Given the description of an element on the screen output the (x, y) to click on. 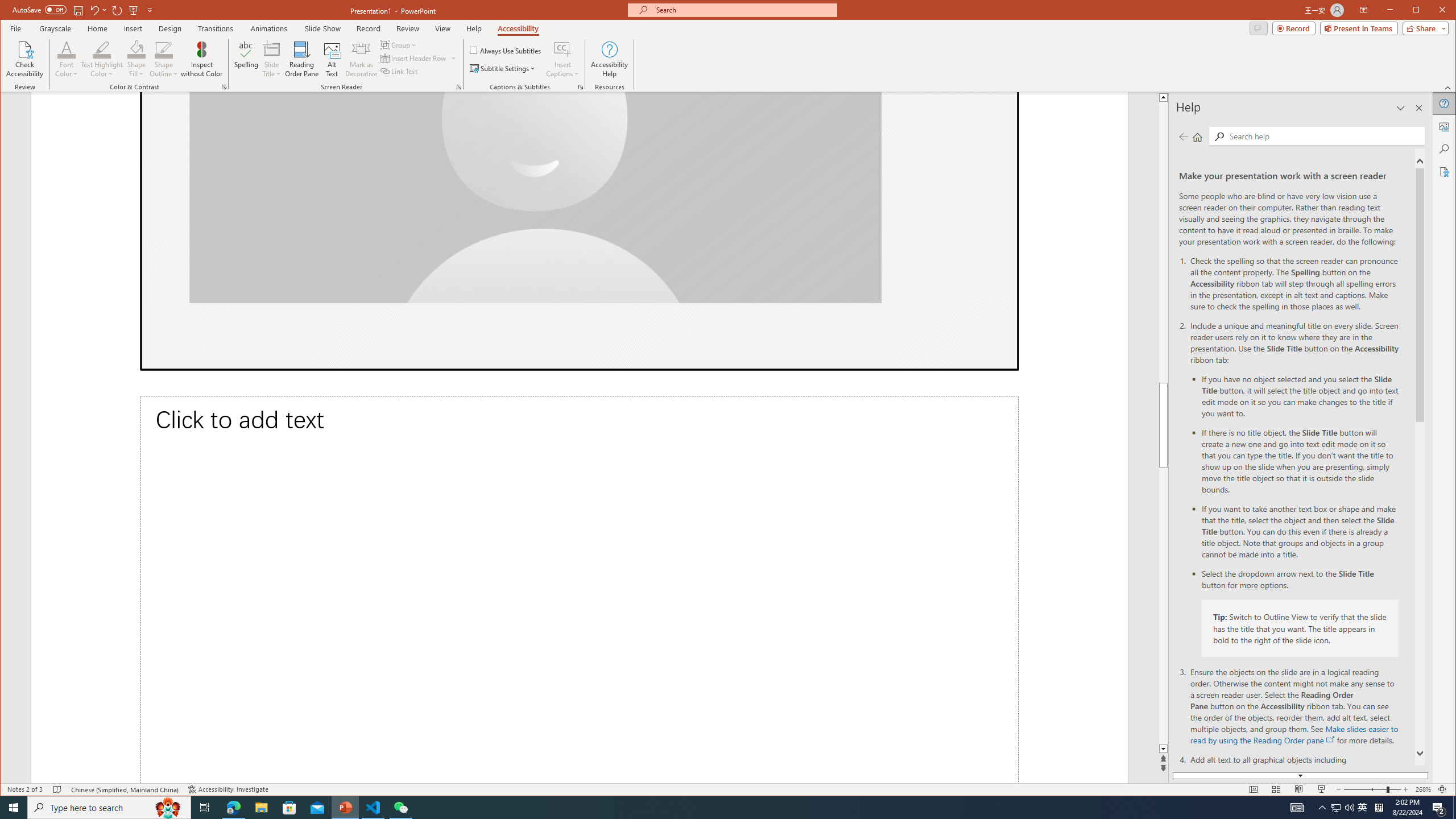
Insert Captions (562, 48)
Color & Contrast (223, 86)
